Given the description of an element on the screen output the (x, y) to click on. 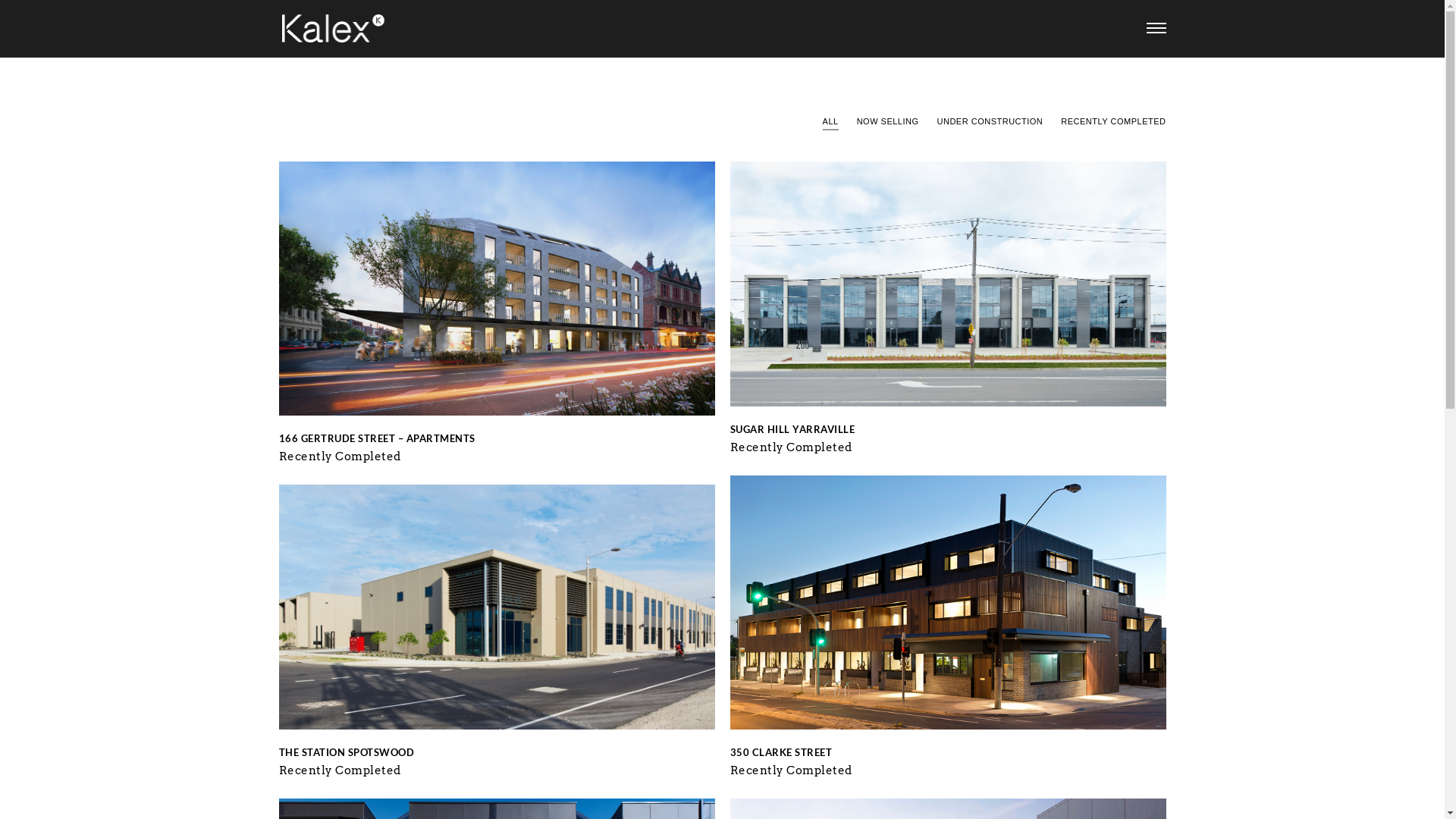
THE STATION SPOTSWOOD Element type: text (346, 752)
Recently Completed Element type: text (790, 770)
ALL Element type: text (830, 122)
Recently Completed Element type: text (340, 770)
NOW SELLING Element type: text (887, 122)
350 CLARKE STREET Element type: text (780, 752)
Recently Completed Element type: text (340, 456)
UNDER CONSTRUCTION Element type: text (990, 122)
Recently Completed Element type: text (790, 447)
RECENTLY COMPLETED Element type: text (1112, 122)
SUGAR HILL YARRAVILLE Element type: text (791, 429)
